Given the description of an element on the screen output the (x, y) to click on. 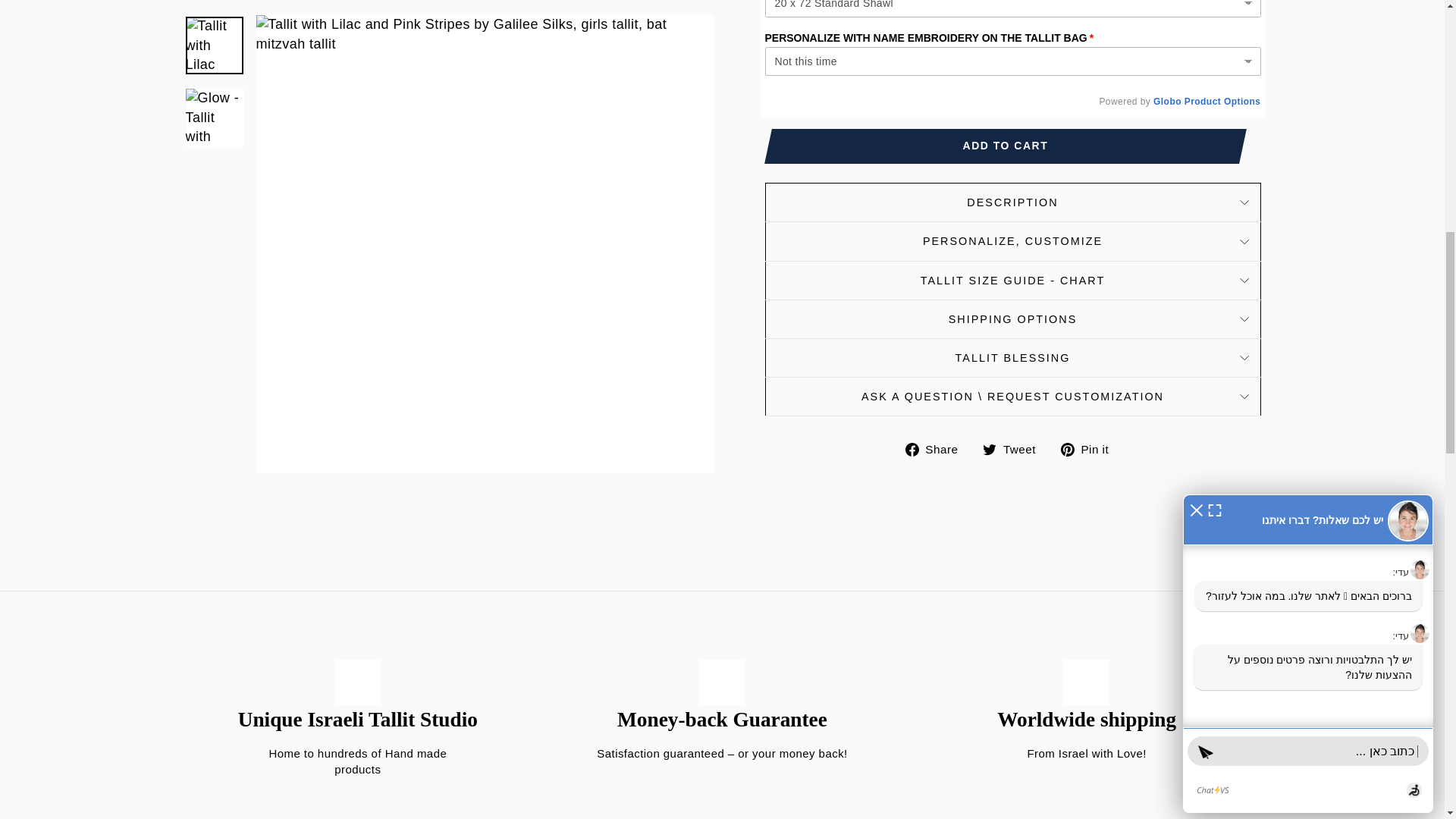
Pin on Pinterest (1090, 447)
Tweet on Twitter (1014, 447)
Share on Facebook (937, 447)
